Given the description of an element on the screen output the (x, y) to click on. 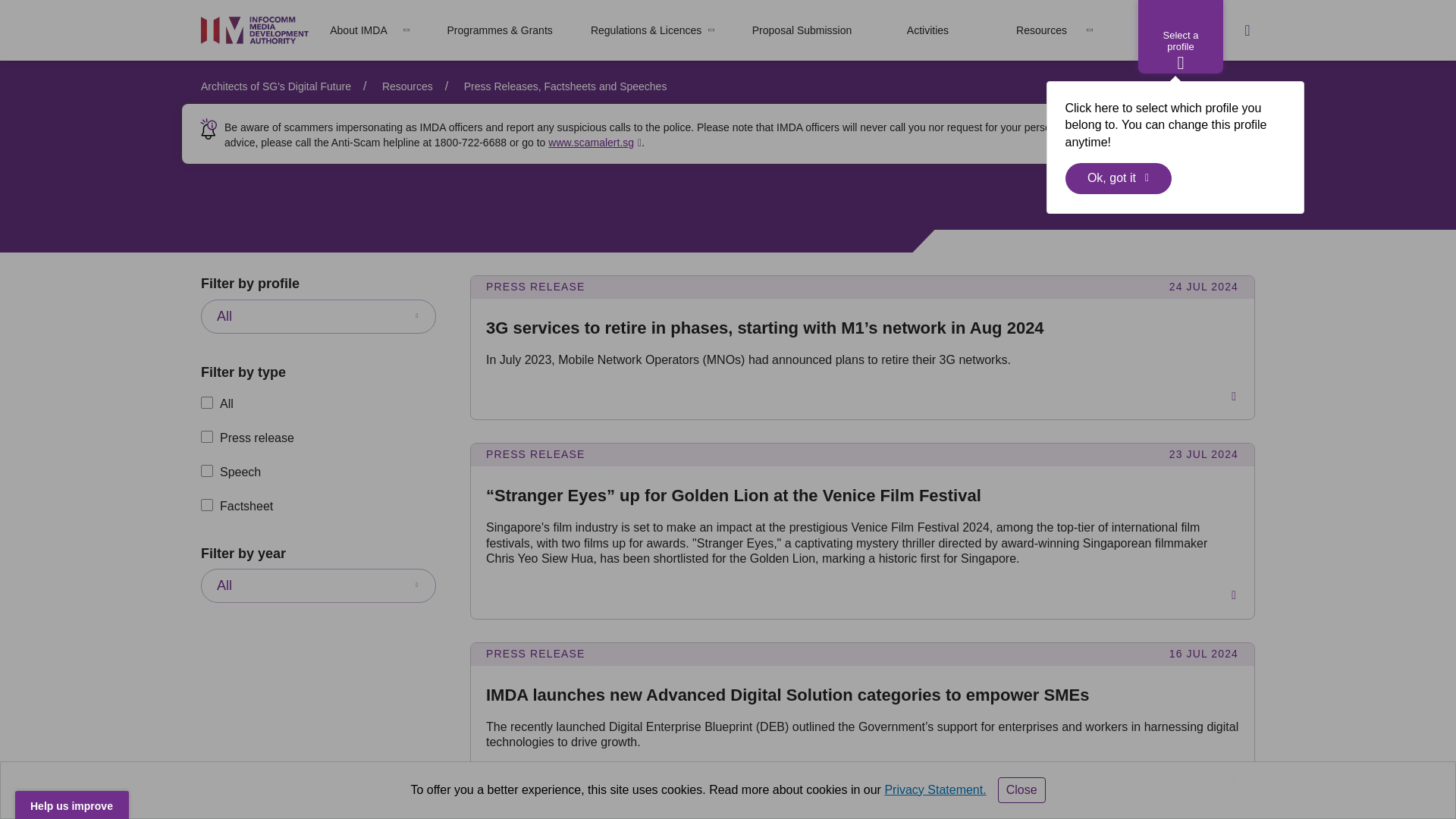
About IMDA (358, 30)
Select a profile (1180, 36)
IMDA (254, 30)
